Given the description of an element on the screen output the (x, y) to click on. 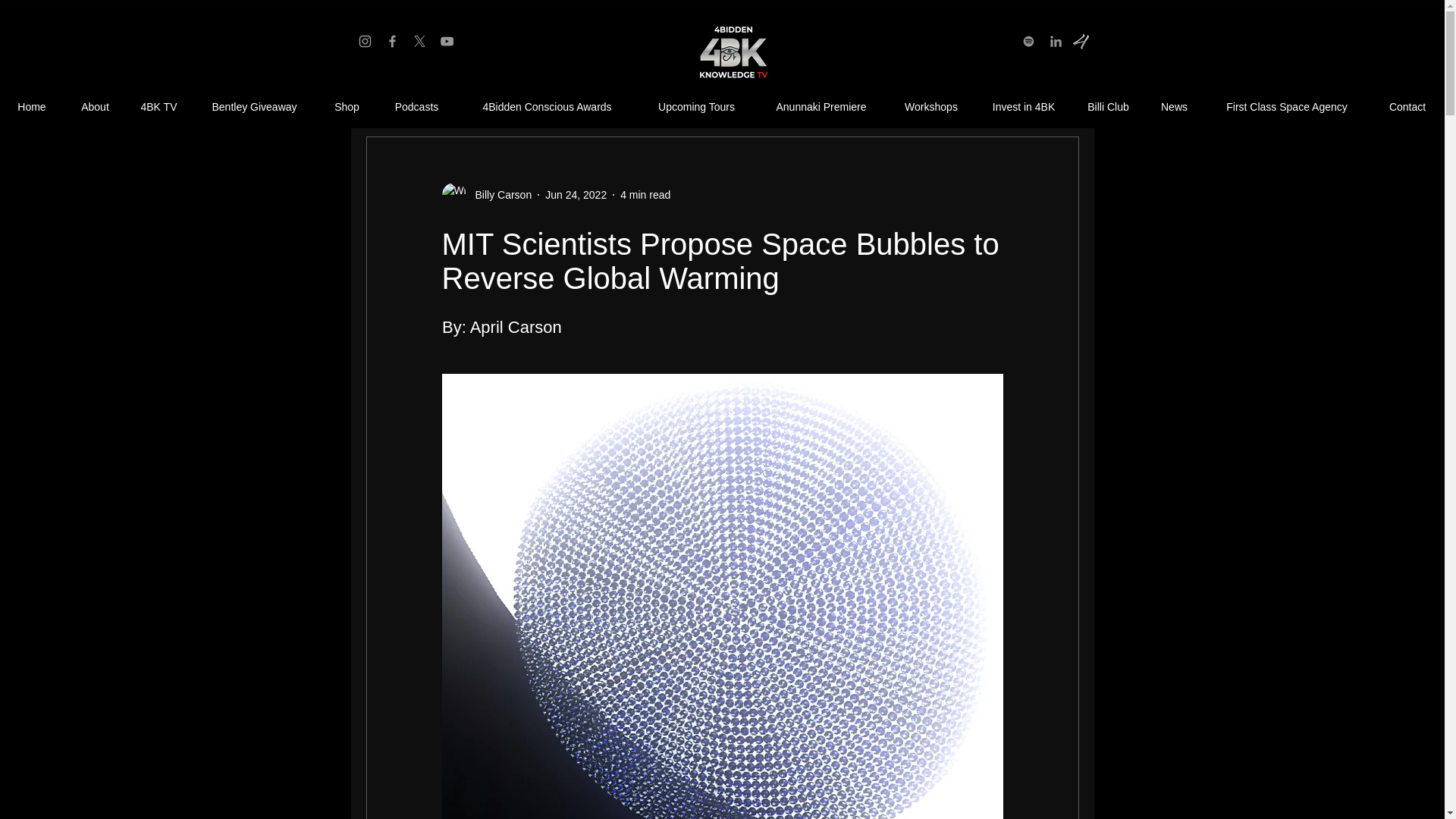
Billy Carson (498, 194)
Bentley Giveaway (253, 107)
Invest in 4BK (1023, 107)
Billy Carson (486, 194)
Workshops (930, 107)
4BiddenKnowledge (731, 52)
First Class Space Agency (1287, 107)
4 min read (644, 193)
Anunnaki Premiere (820, 107)
Billi Club (1107, 107)
